Given the description of an element on the screen output the (x, y) to click on. 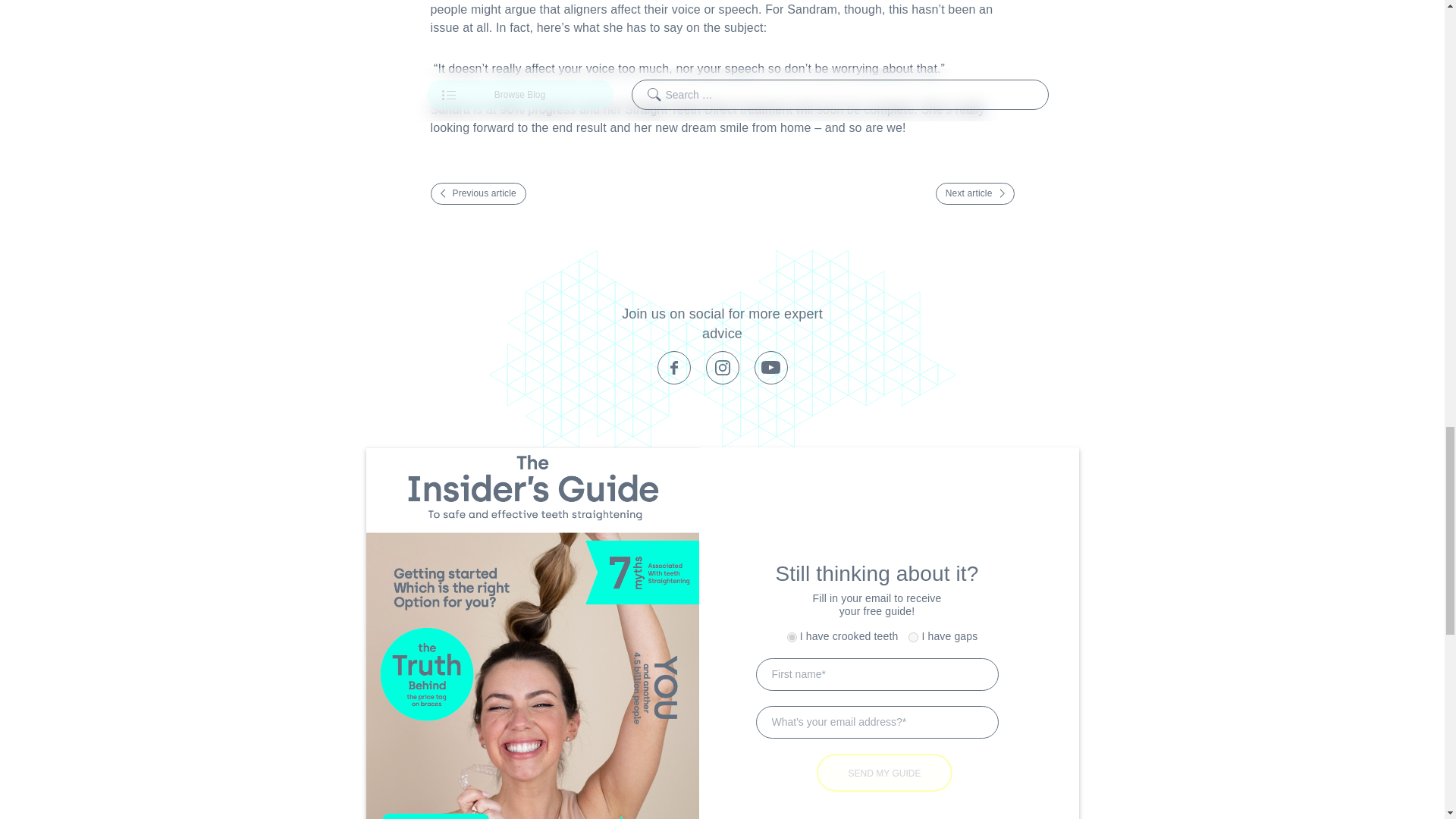
I have crooked teeth (791, 637)
Send my guide (884, 772)
I have gaps (913, 637)
